Given the description of an element on the screen output the (x, y) to click on. 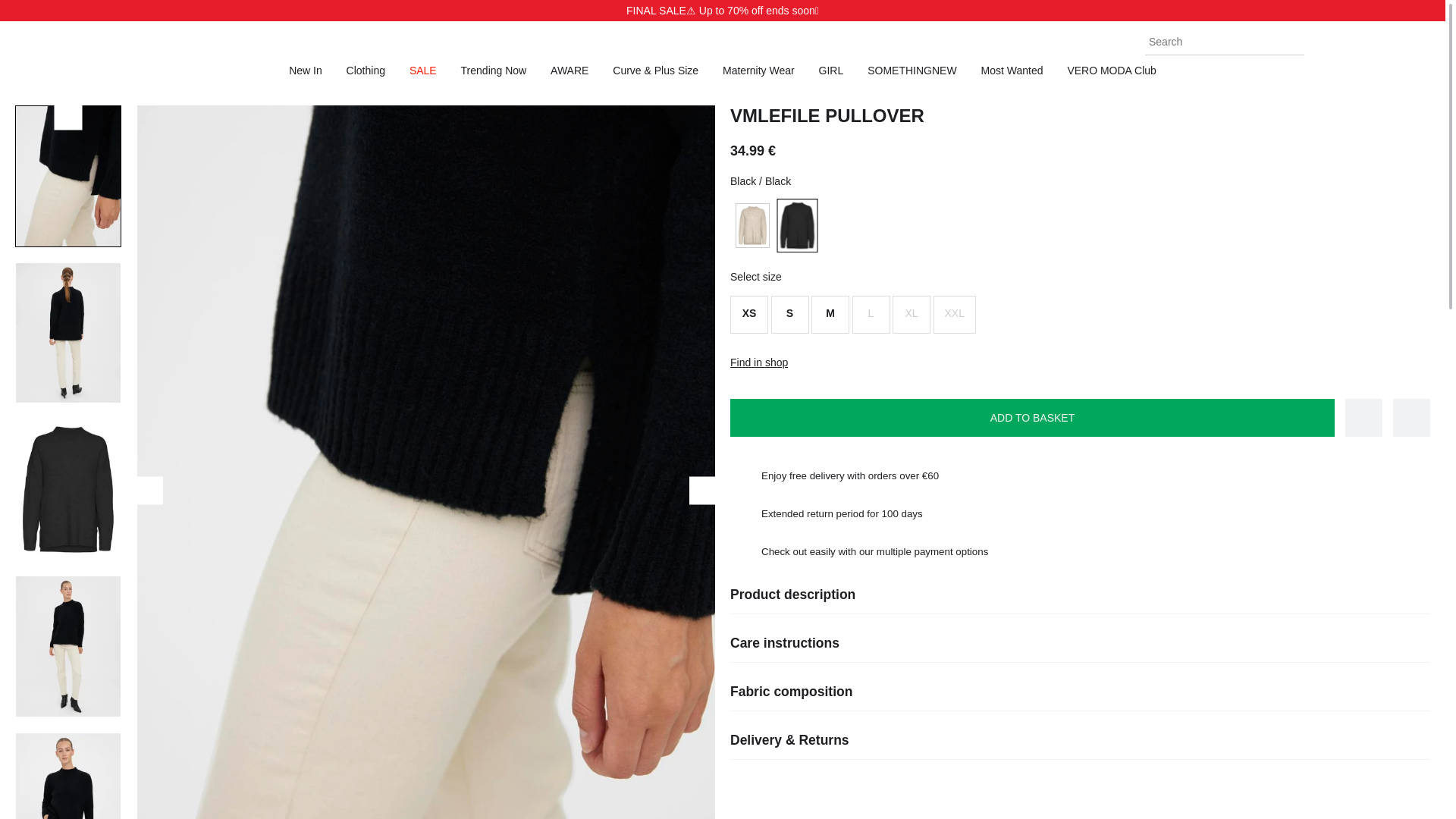
VERO MODA Club (1111, 71)
Maternity Wear (758, 71)
AWARE (569, 71)
Trending Now (494, 71)
Size guide (1411, 417)
Clothing (365, 71)
Find in shop (758, 362)
GIRL (831, 71)
SOMETHINGNEW (911, 71)
New In (304, 71)
SALE (422, 71)
Most Wanted (1012, 71)
ADD TO BASKET (1032, 417)
